Given the description of an element on the screen output the (x, y) to click on. 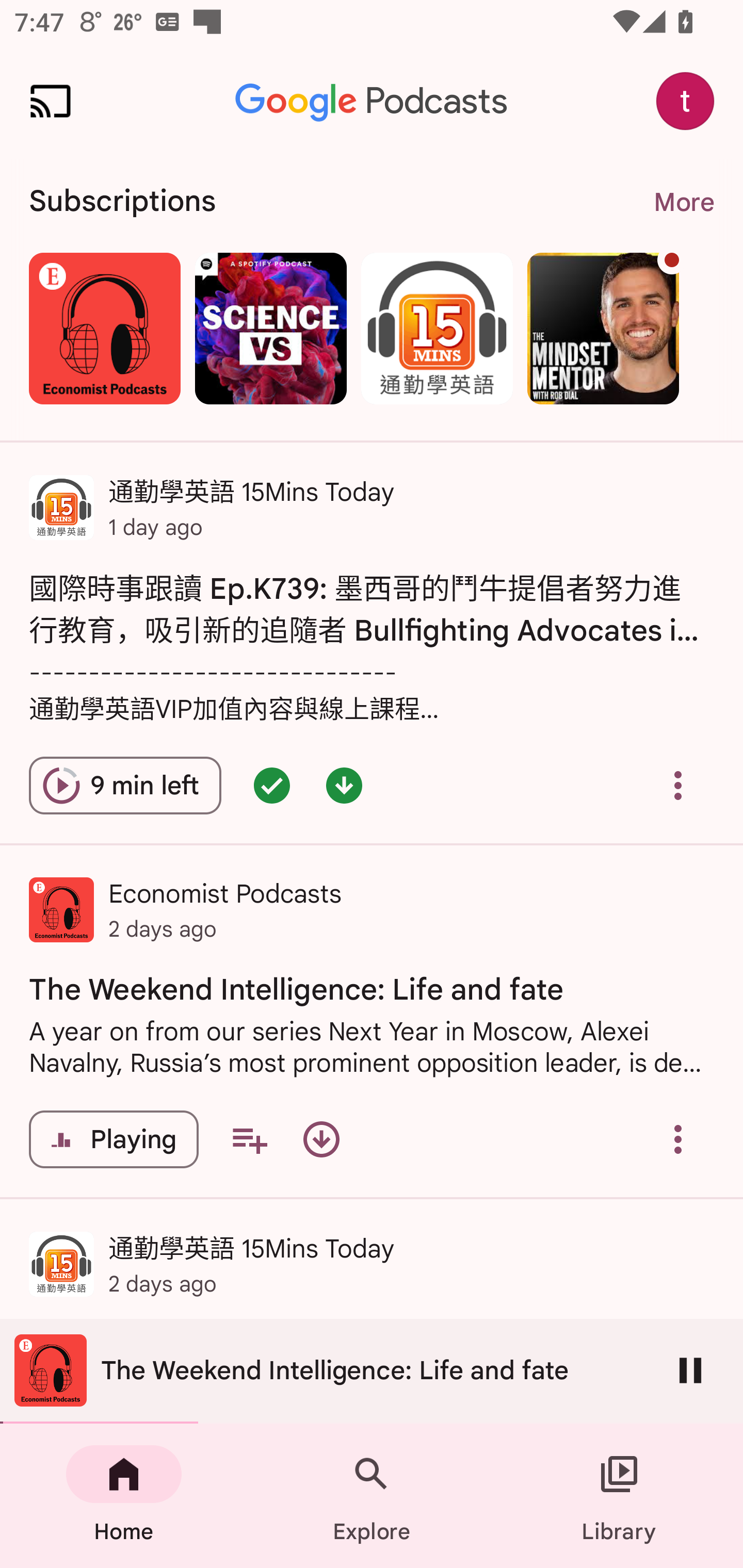
Cast. Disconnected (50, 101)
More More. Navigate to subscriptions page. (683, 202)
Economist Podcasts (104, 328)
Science Vs (270, 328)
通勤學英語 15Mins Today (436, 328)
The Mindset Mentor (603, 328)
Episode queued - double tap for options (271, 785)
Episode downloaded - double tap for options (344, 785)
Overflow menu (677, 785)
Add to your queue (249, 1139)
Download episode (321, 1139)
Overflow menu (677, 1139)
Pause (690, 1370)
Explore (371, 1495)
Library (619, 1495)
